Given the description of an element on the screen output the (x, y) to click on. 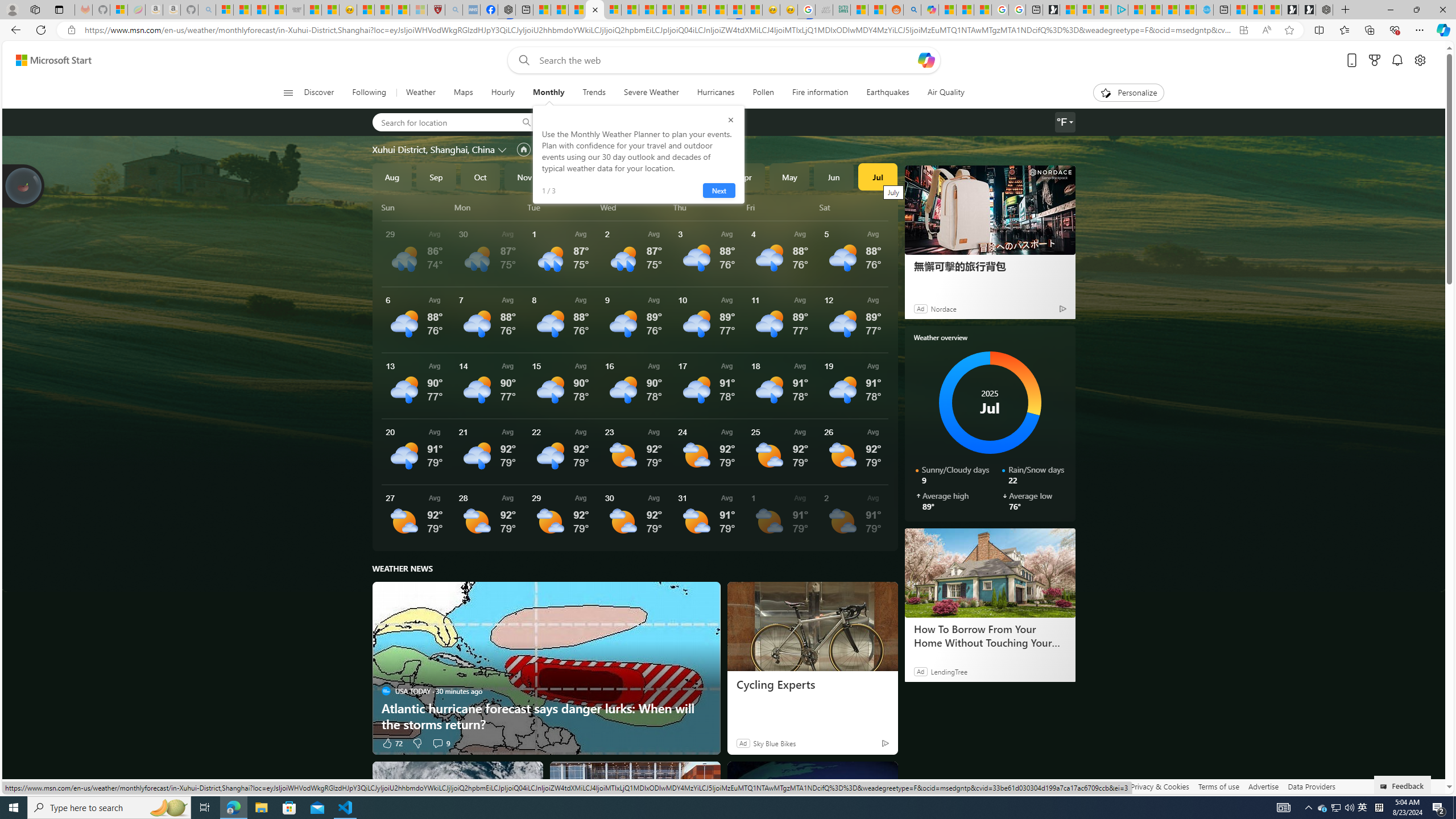
Sep (435, 176)
Fire information (820, 92)
Earthquakes (888, 92)
Discover (323, 92)
Data Providers (1311, 786)
Air Quality (940, 92)
Trusted Community Engagement and Contributions | Guidelines (683, 9)
App available. Install Microsoft Start Weather (1243, 29)
Jun (833, 176)
Feedback (1402, 784)
